Given the description of an element on the screen output the (x, y) to click on. 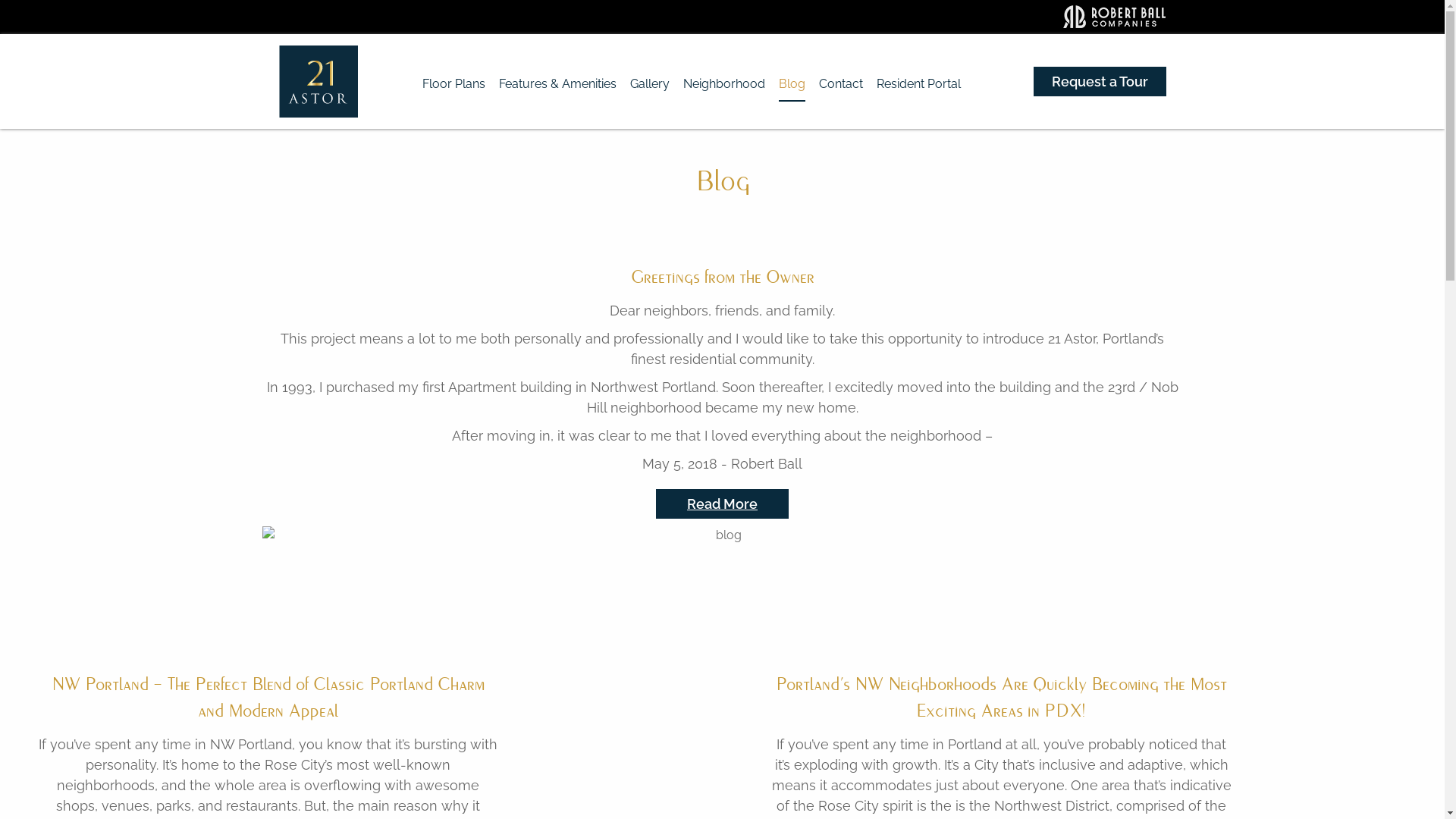
Resident Portal Element type: text (918, 84)
Gallery Element type: text (649, 84)
Blog Element type: text (791, 84)
Neighborhood Element type: text (724, 84)
Request a Tour Element type: text (1098, 81)
Floor Plans Element type: text (453, 84)
Read More Element type: text (721, 503)
Contact Element type: text (840, 84)
Features & Amenities Element type: text (557, 84)
